Given the description of an element on the screen output the (x, y) to click on. 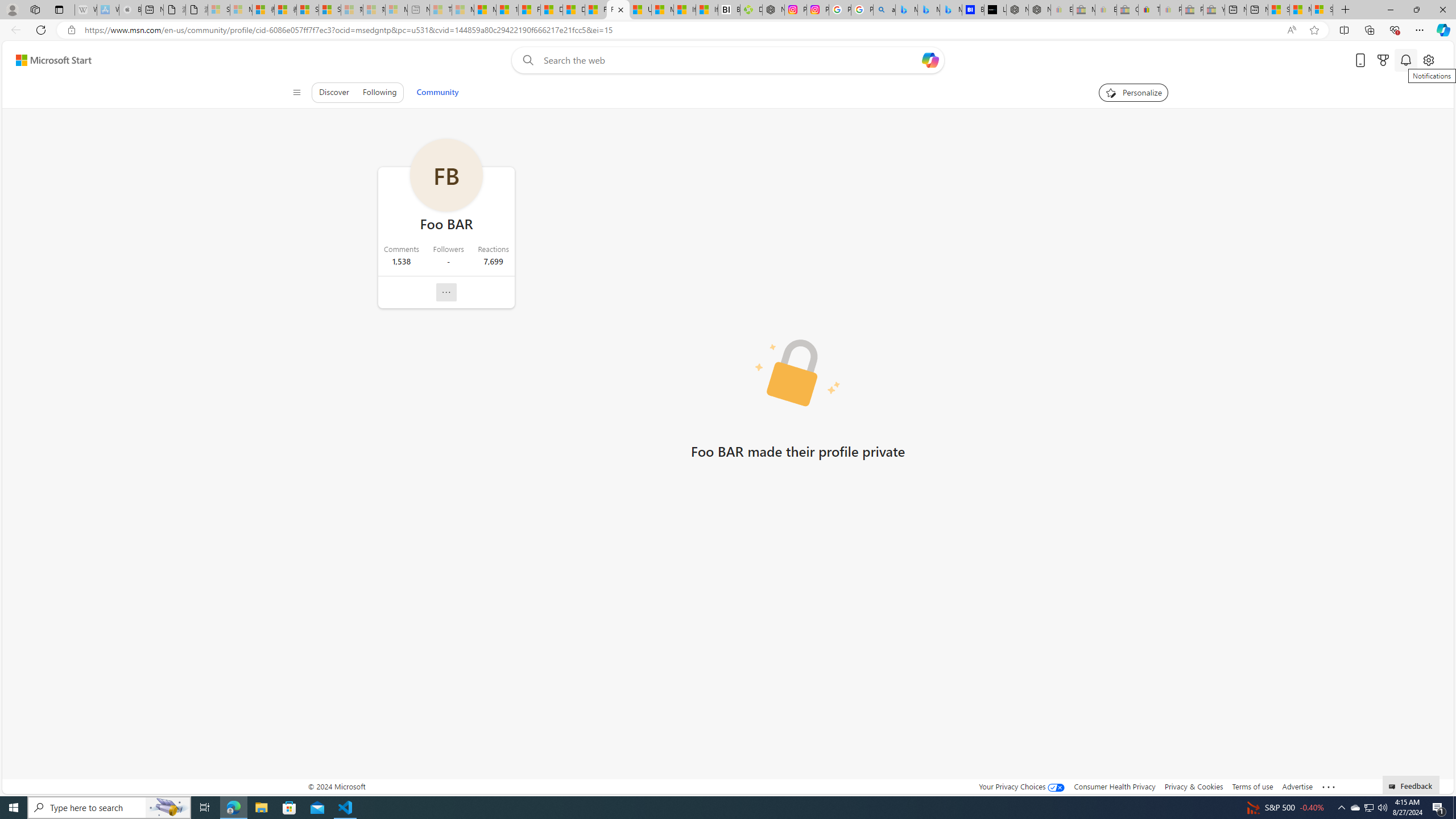
Shanghai, China hourly forecast | Microsoft Weather (1278, 9)
Buy iPad - Apple - Sleeping (130, 9)
